Given the description of an element on the screen output the (x, y) to click on. 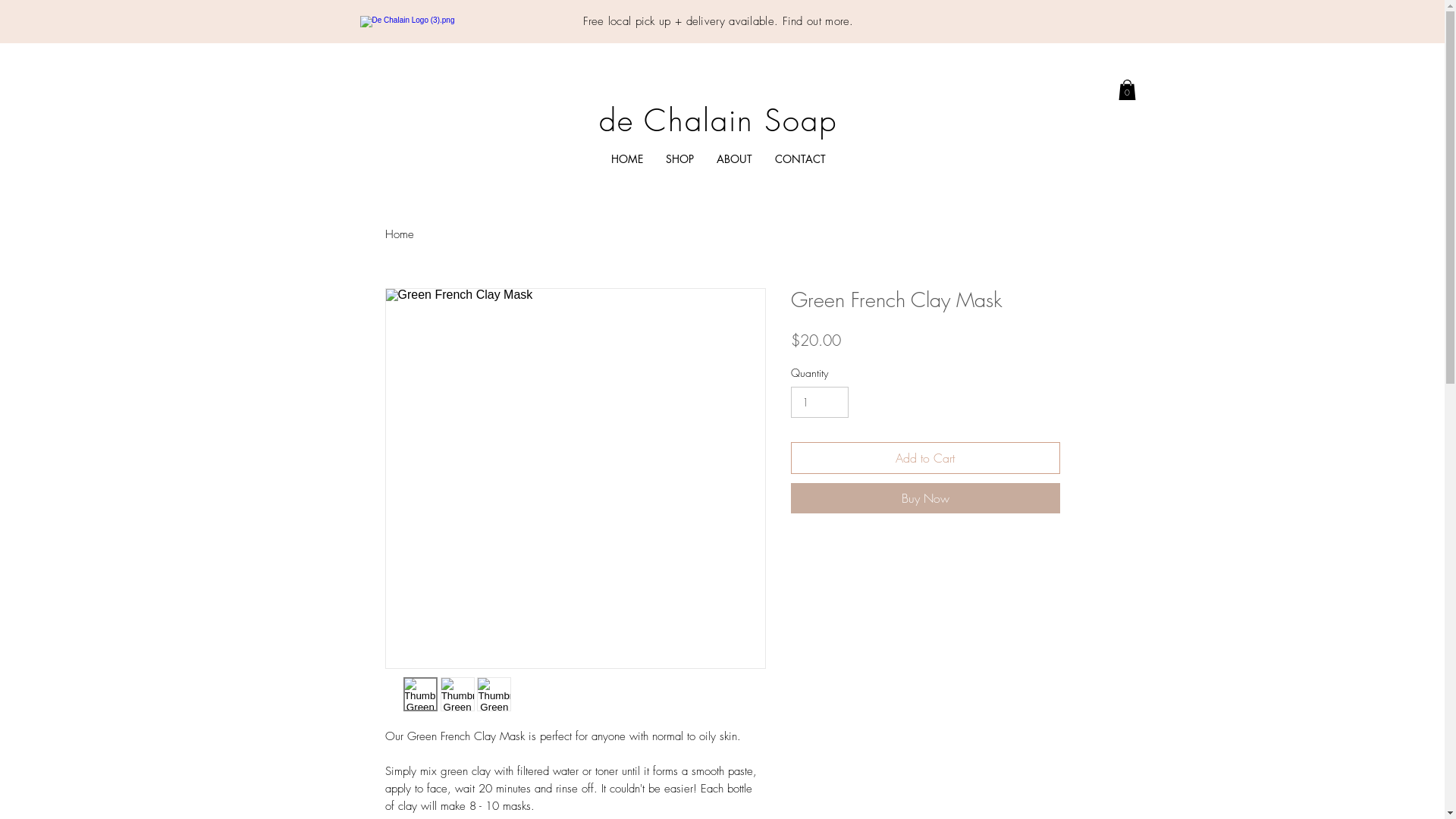
0 Element type: text (1126, 89)
HOME Element type: text (626, 158)
Add to Cart Element type: text (924, 457)
de Chalain Soap Element type: text (718, 120)
SHOP Element type: text (679, 158)
CONTACT Element type: text (800, 158)
Free local pick up + delivery available. Find out more. Element type: text (718, 20)
Home Element type: text (399, 233)
ABOUT Element type: text (734, 158)
Buy Now Element type: text (924, 498)
